Given the description of an element on the screen output the (x, y) to click on. 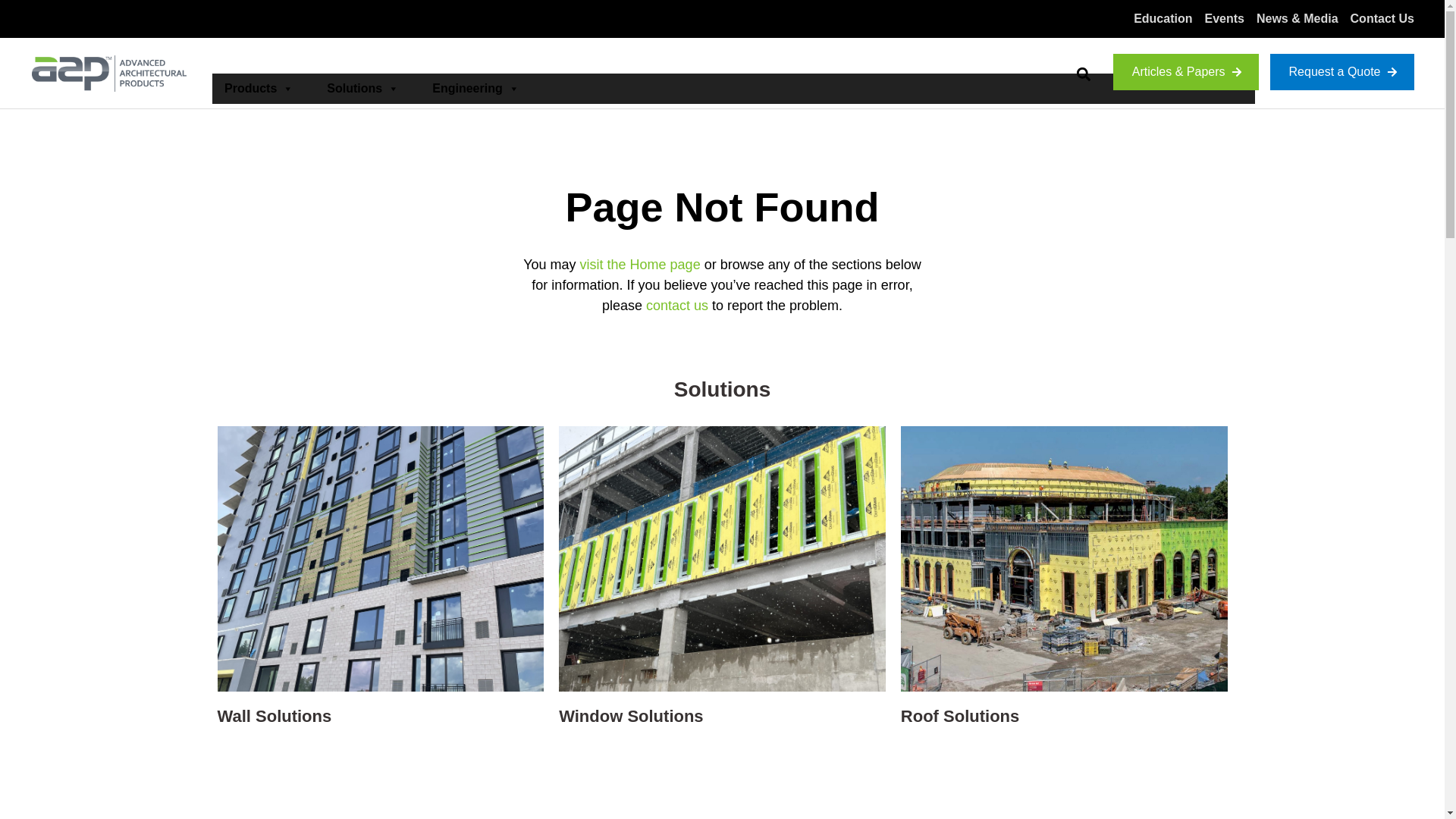
Products (256, 88)
Education (1163, 18)
Solutions (360, 88)
Events (1223, 18)
Engineering (472, 88)
Contact Us (1382, 18)
